Given the description of an element on the screen output the (x, y) to click on. 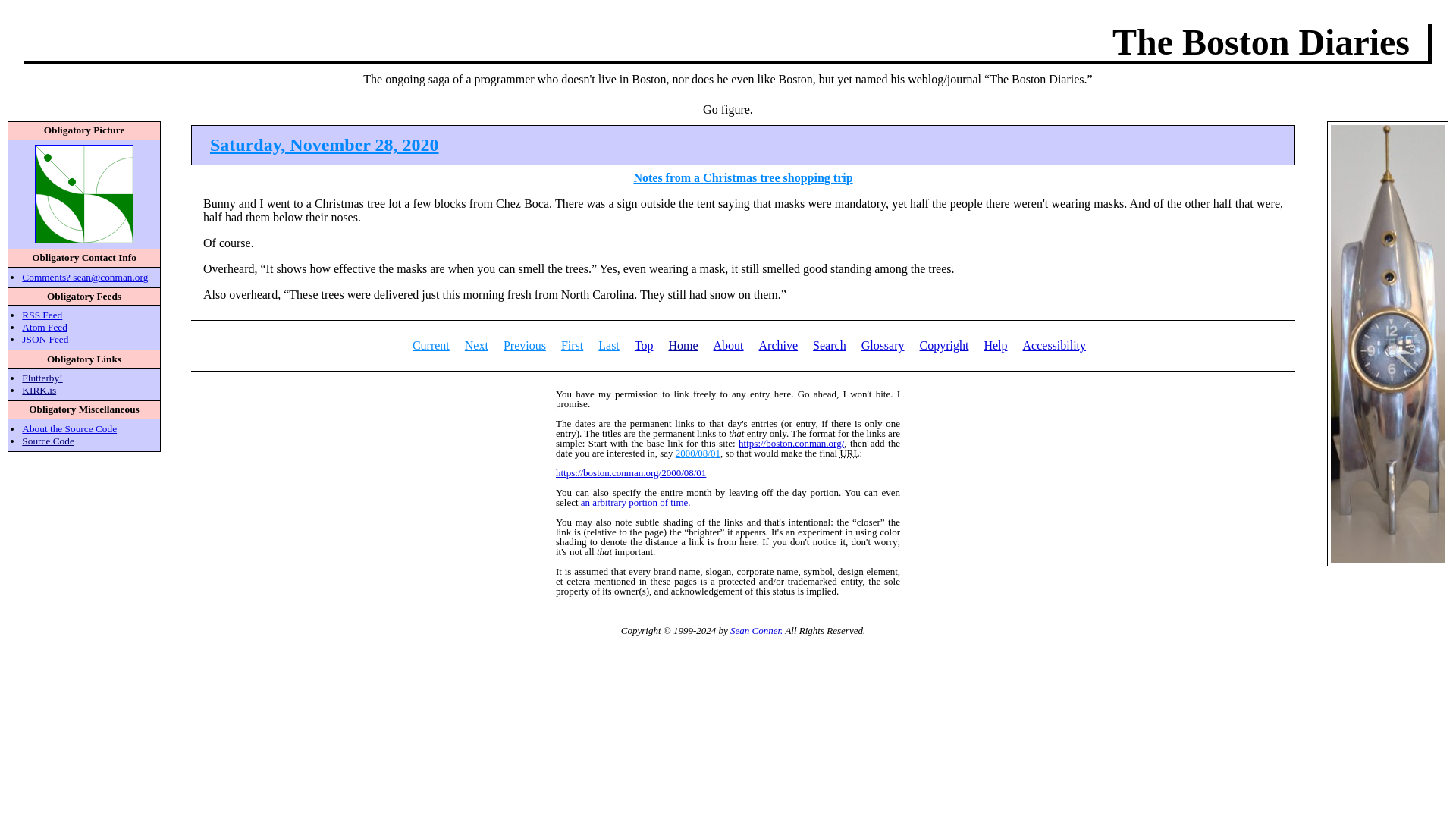
Archive (777, 345)
KIRK.is (38, 389)
Help (995, 345)
RSS Feed (41, 315)
Copyright (944, 345)
Notes from a Christmas tree shopping trip (742, 177)
Atom Feed (43, 326)
Home (682, 345)
Flutterby! (41, 378)
About (728, 345)
